Given the description of an element on the screen output the (x, y) to click on. 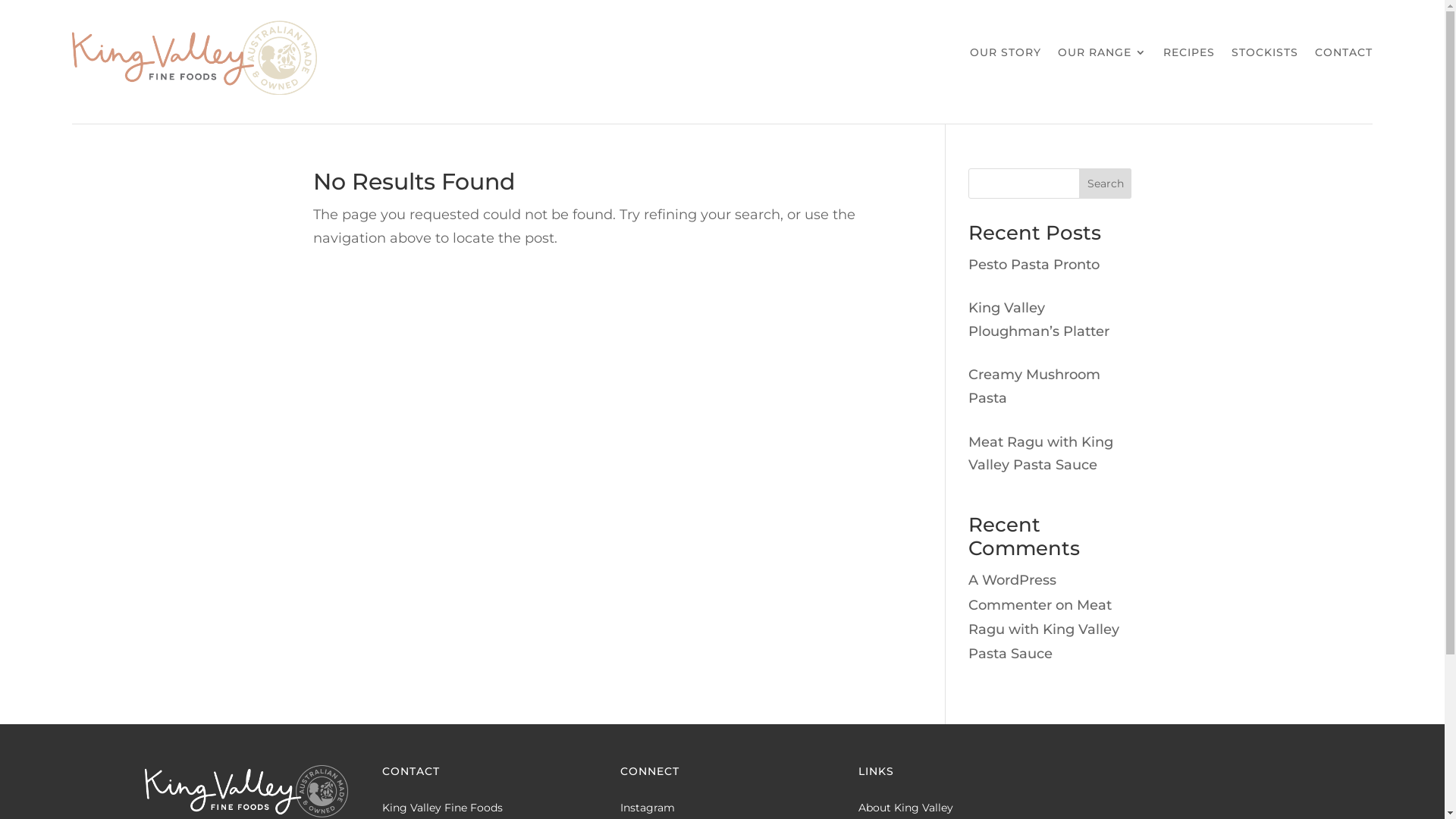
Search Element type: text (1105, 183)
A WordPress Commenter Element type: text (1012, 591)
Pesto Pasta Pronto Element type: text (1033, 264)
Meat Ragu with King Valley Pasta Sauce Element type: text (1040, 453)
Meat Ragu with King Valley Pasta Sauce Element type: text (1043, 629)
STOCKISTS Element type: text (1264, 55)
Creamy Mushroom Pasta Element type: text (1034, 386)
KVFF_Logo_White Element type: hover (245, 791)
CONTACT Element type: text (1343, 55)
About King Valley Element type: text (905, 807)
Instagram Element type: text (647, 807)
OUR STORY Element type: text (1005, 55)
KVFF_Logo Element type: hover (194, 57)
RECIPES Element type: text (1188, 55)
OUR RANGE Element type: text (1101, 55)
